Given the description of an element on the screen output the (x, y) to click on. 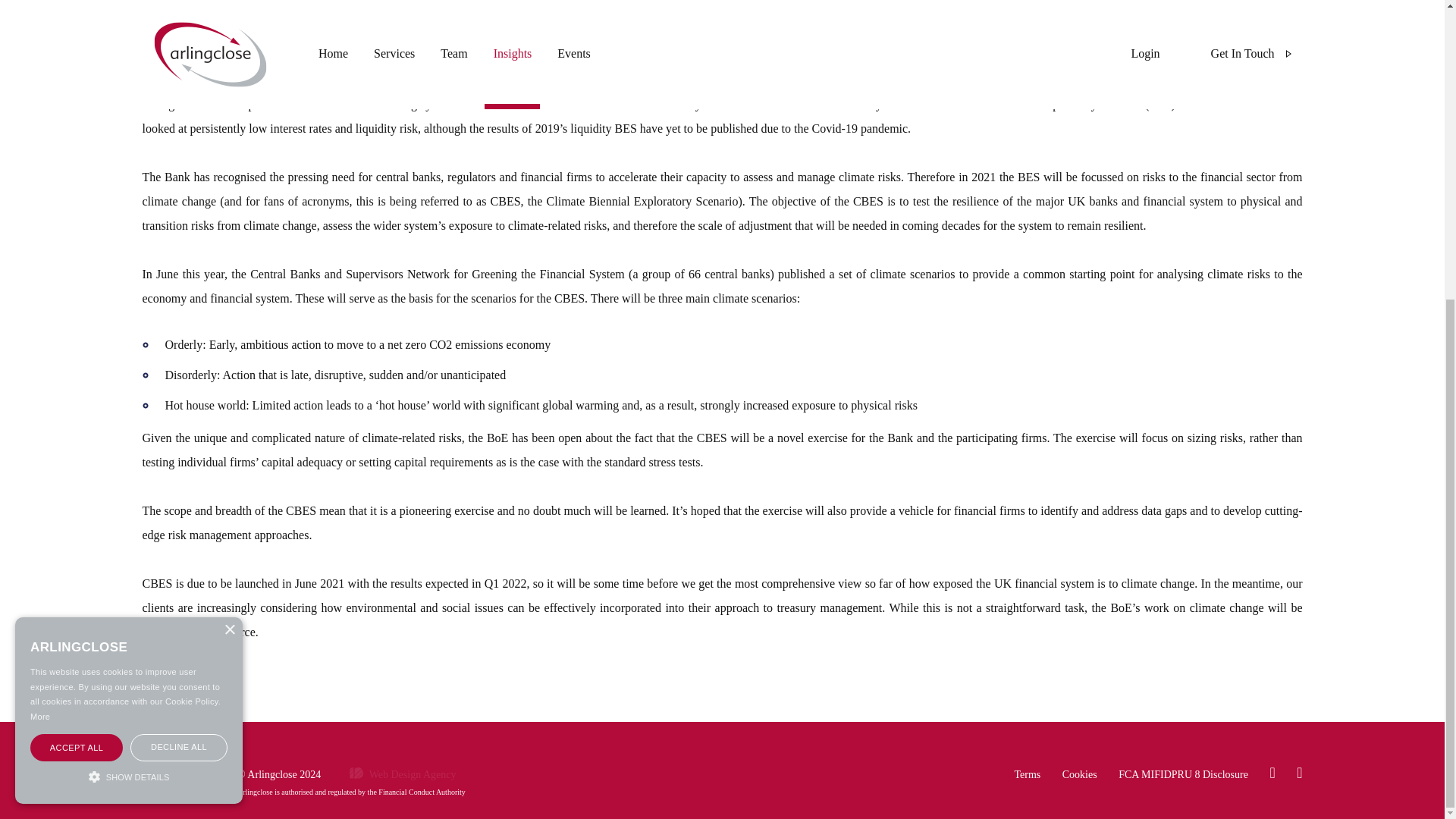
Terms (1027, 774)
Cookies (1079, 774)
More (39, 251)
FCA MIFIDPRU 8 Disclosure (1182, 774)
Web Design Agency (390, 774)
